Given the description of an element on the screen output the (x, y) to click on. 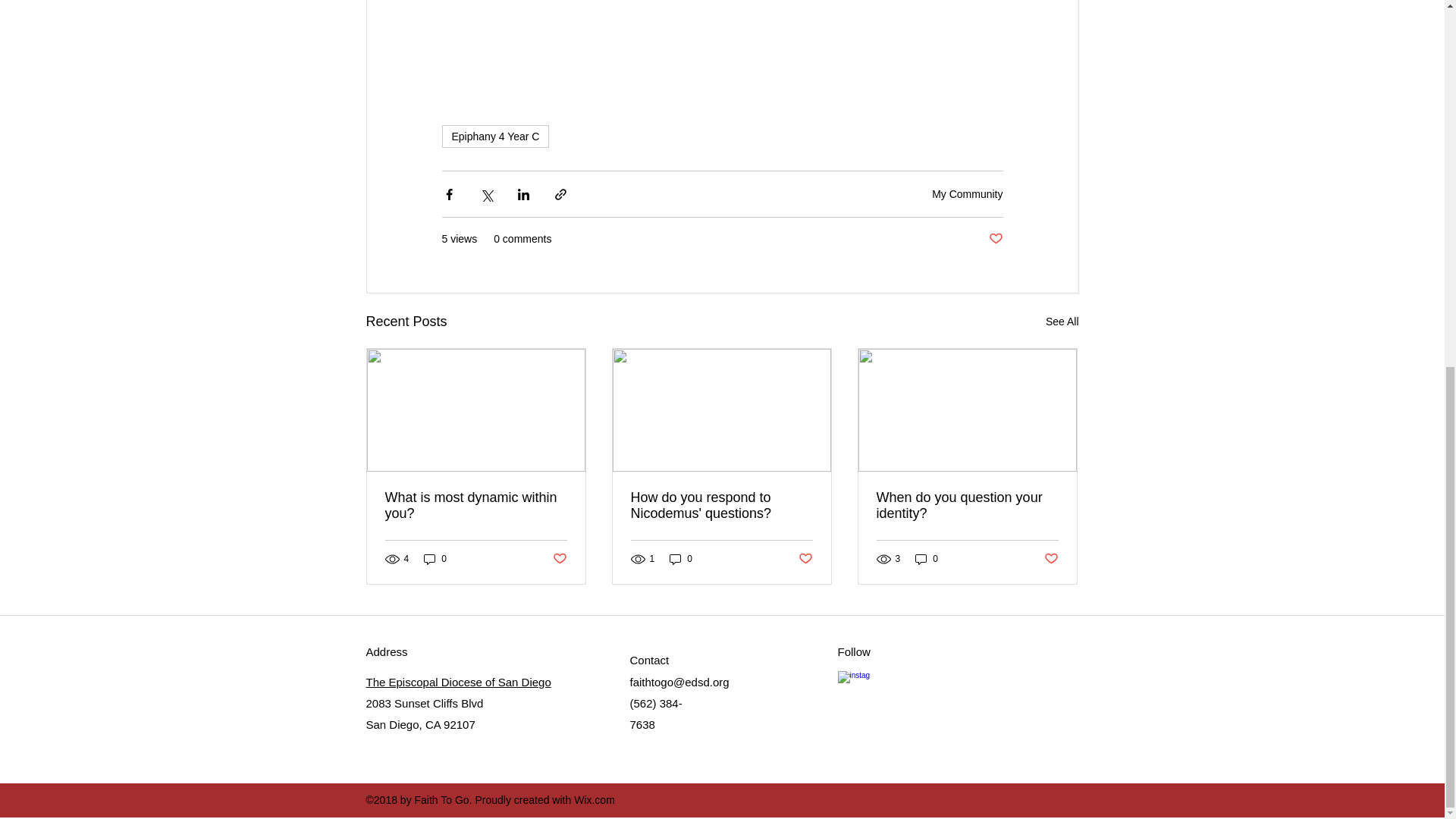
0 (681, 558)
0 (926, 558)
What is most dynamic within you? (476, 505)
See All (1061, 321)
When do you question your identity? (967, 505)
Epiphany 4 Year C (494, 136)
The Episcopal Diocese of San Diego (457, 681)
How do you respond to Nicodemus' questions? (721, 505)
0 (435, 558)
Post not marked as liked (558, 559)
